Given the description of an element on the screen output the (x, y) to click on. 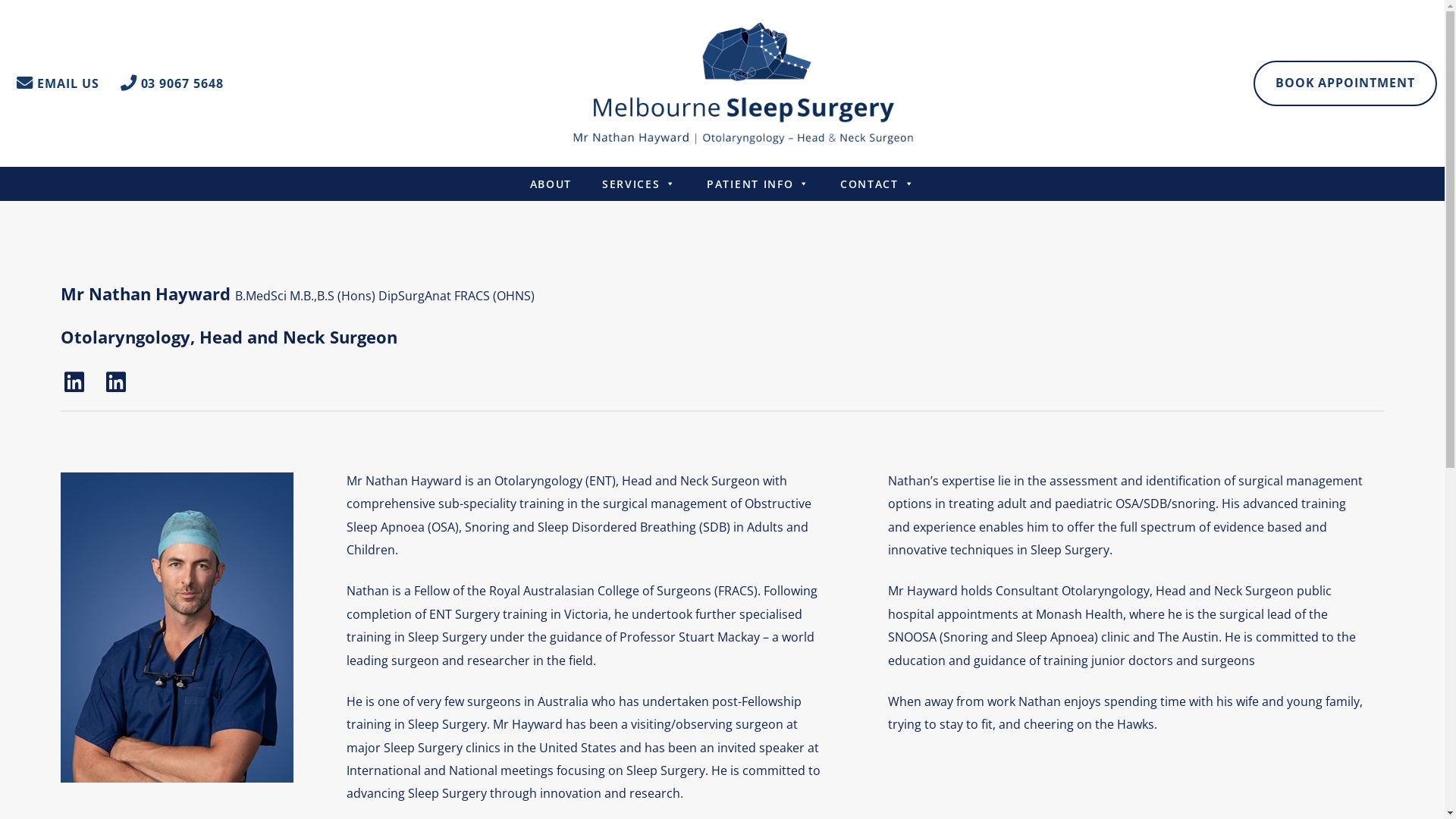
LinkedIn Element type: hover (73, 381)
03 9067 5648 Element type: text (171, 82)
LinkedIn Element type: hover (115, 381)
Dr.Nathan-Hayward Element type: hover (176, 627)
Skip to primary navigation Element type: text (30, 0)
melbourne sleep surgery Element type: text (742, 83)
CONTACT Element type: text (877, 183)
BOOK APPOINTMENT Element type: text (1345, 82)
EMAIL US Element type: text (57, 82)
ABOUT Element type: text (550, 183)
PATIENT INFO Element type: text (758, 183)
SERVICES Element type: text (638, 183)
